Given the description of an element on the screen output the (x, y) to click on. 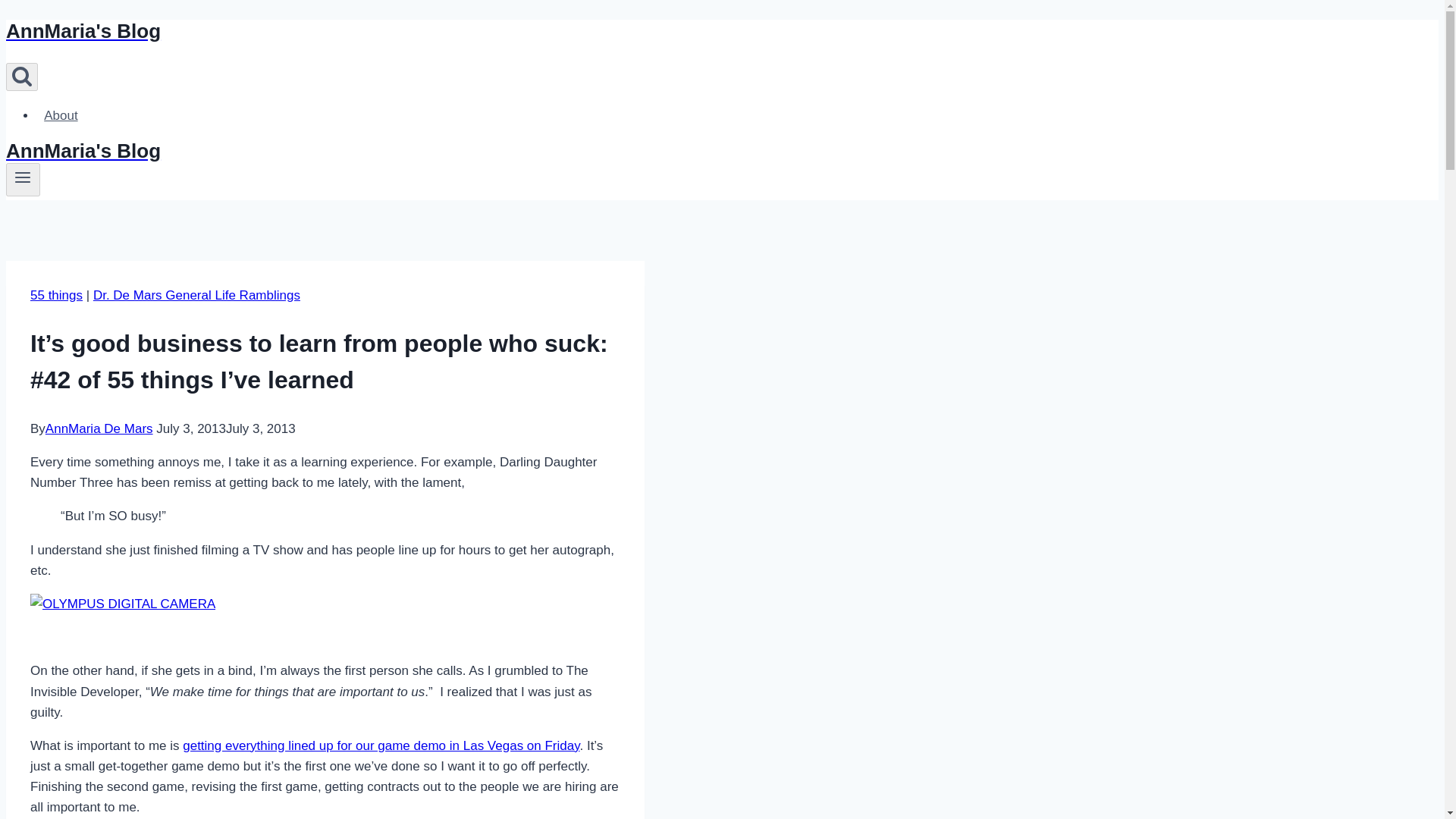
AnnMaria's Blog (494, 31)
Toggle Menu (22, 179)
About (60, 115)
AnnMaria's Blog (494, 150)
Search (21, 75)
55 things (56, 295)
AnnMaria De Mars (98, 428)
Search (21, 76)
